Given the description of an element on the screen output the (x, y) to click on. 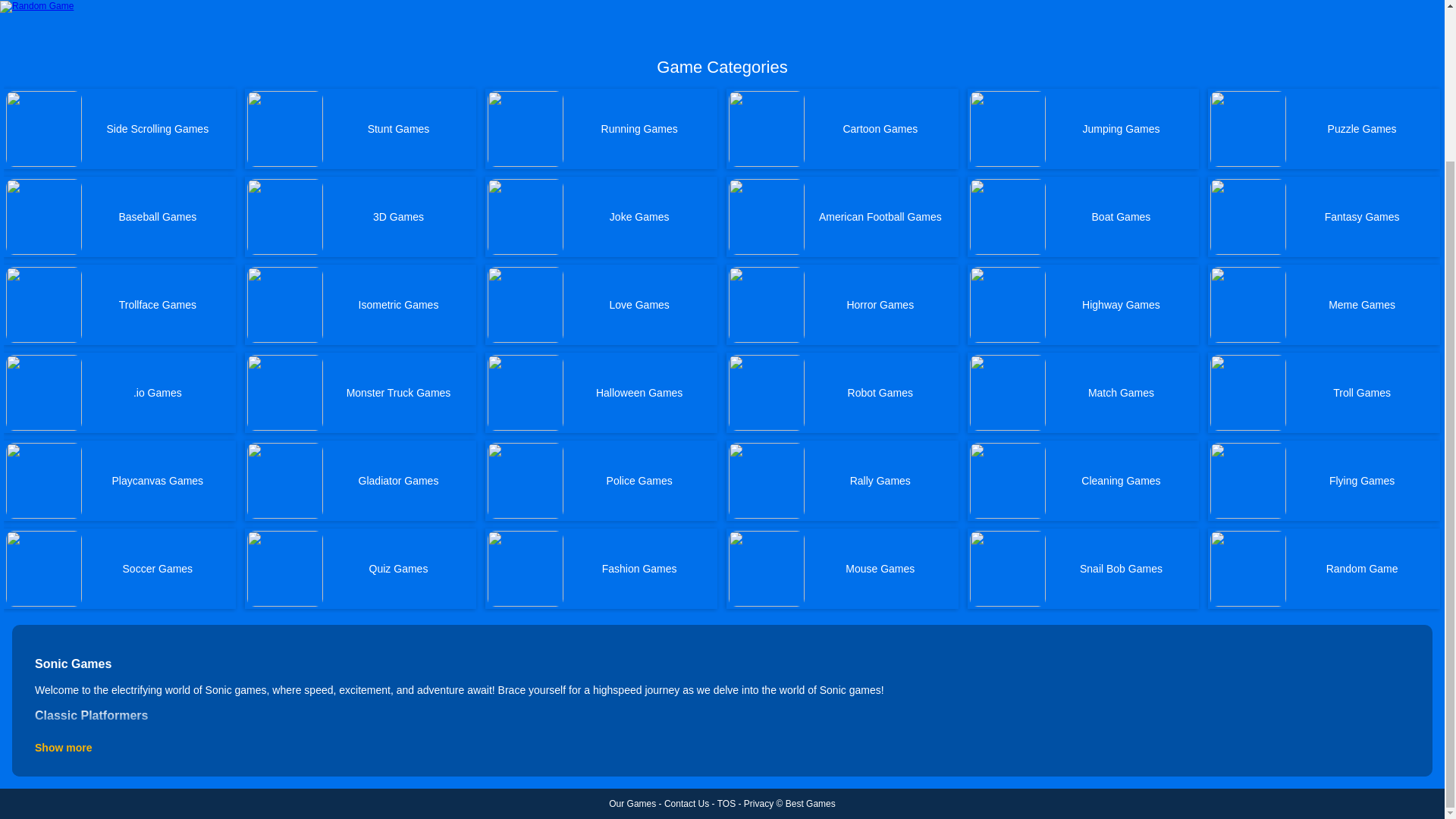
Side Scrolling Games (119, 128)
Isometric Games (360, 304)
Horror Games (842, 304)
Trollface Games (119, 304)
Robot Games (842, 392)
Boat Games (1083, 216)
Halloween Games (600, 392)
Baseball Games (119, 216)
American Football Games (842, 216)
Jumping Games (1083, 128)
